Given the description of an element on the screen output the (x, y) to click on. 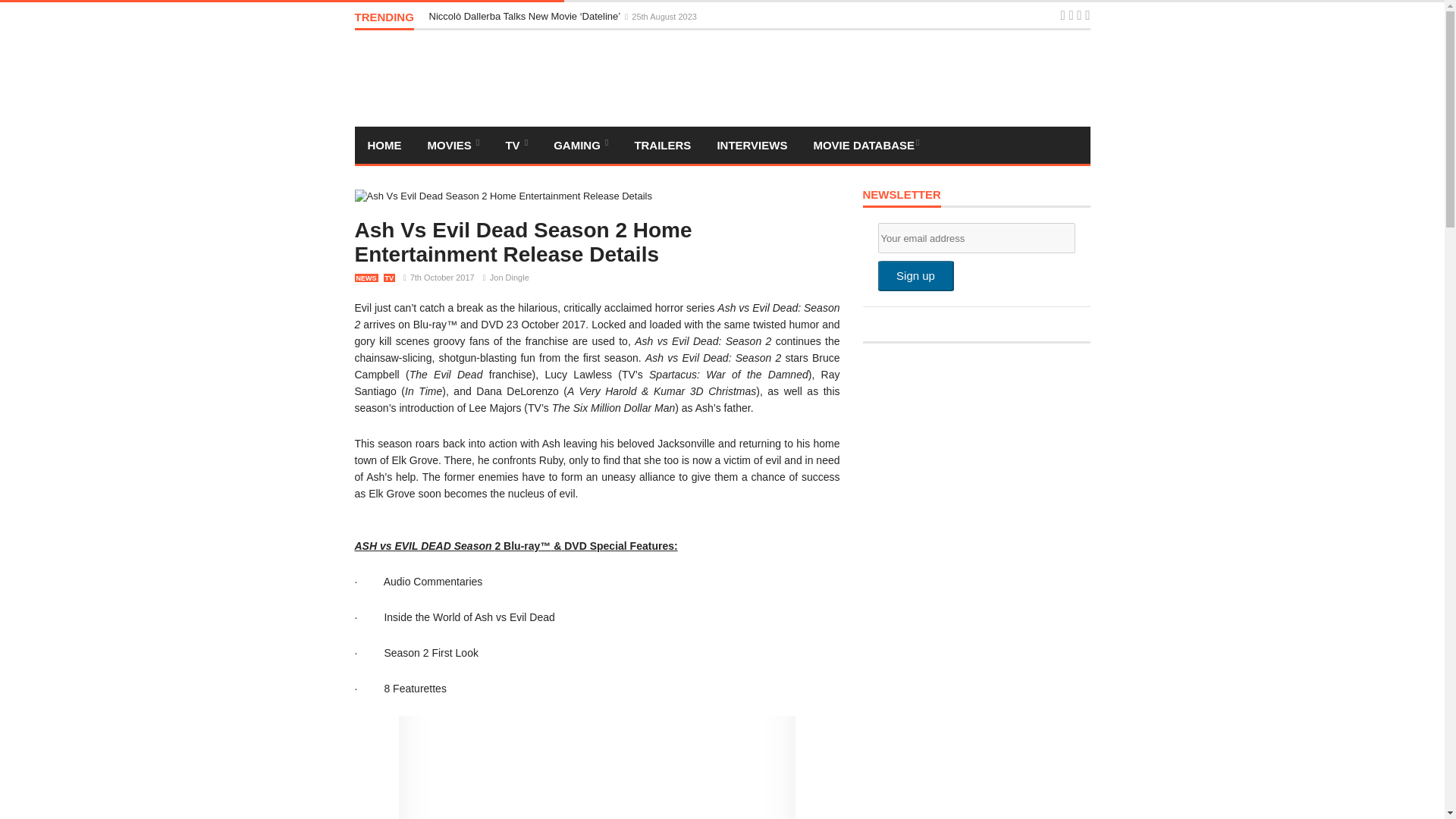
Home (384, 144)
MOVIES (452, 144)
HOME (384, 144)
TRENDING (384, 20)
Sign up (915, 276)
Trailers (662, 144)
Gaming (580, 144)
TV (516, 144)
Interviews (751, 144)
Movies (452, 144)
